Given the description of an element on the screen output the (x, y) to click on. 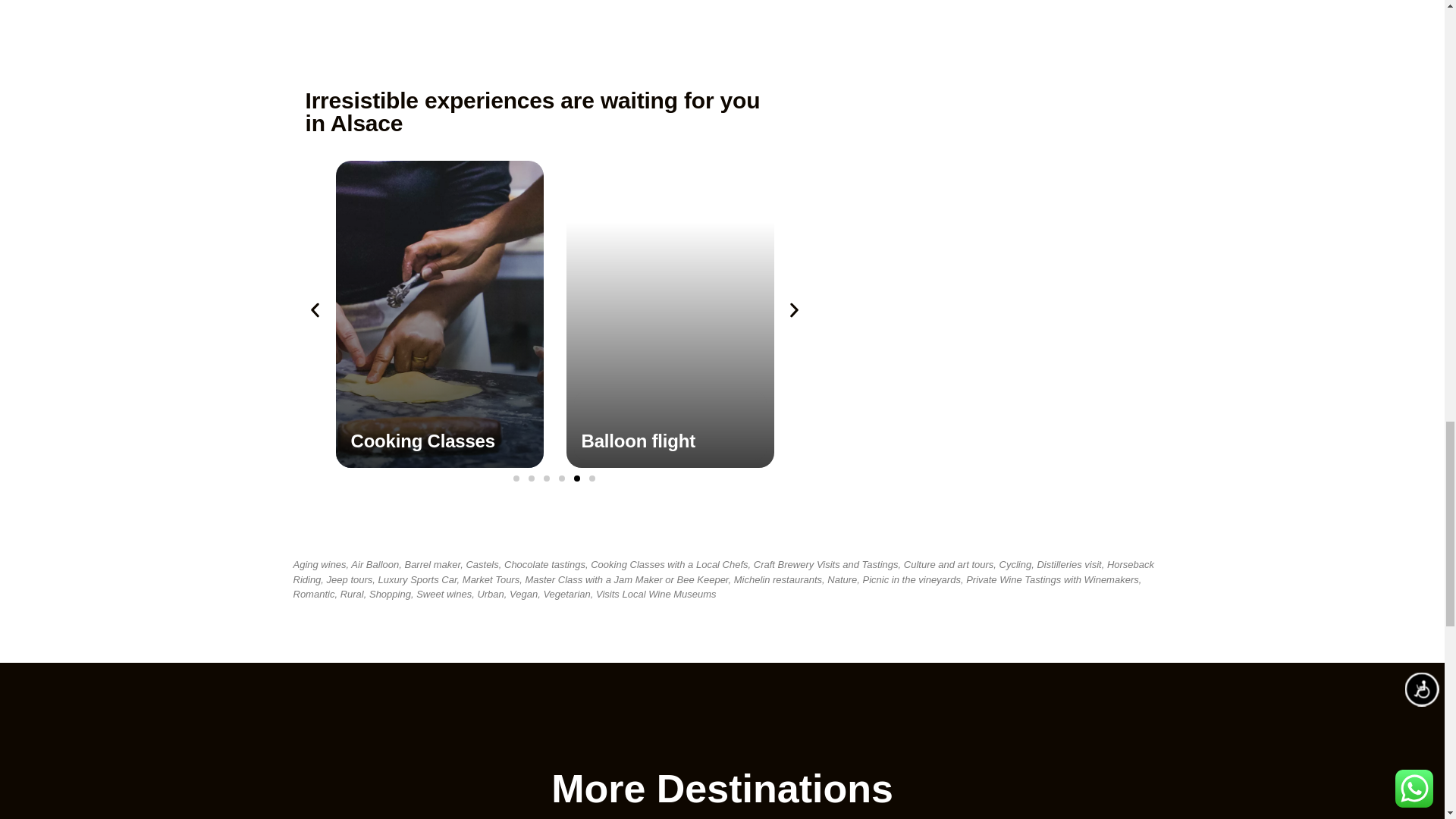
Balloon flight (637, 440)
Cooking Classes (422, 440)
